Given the description of an element on the screen output the (x, y) to click on. 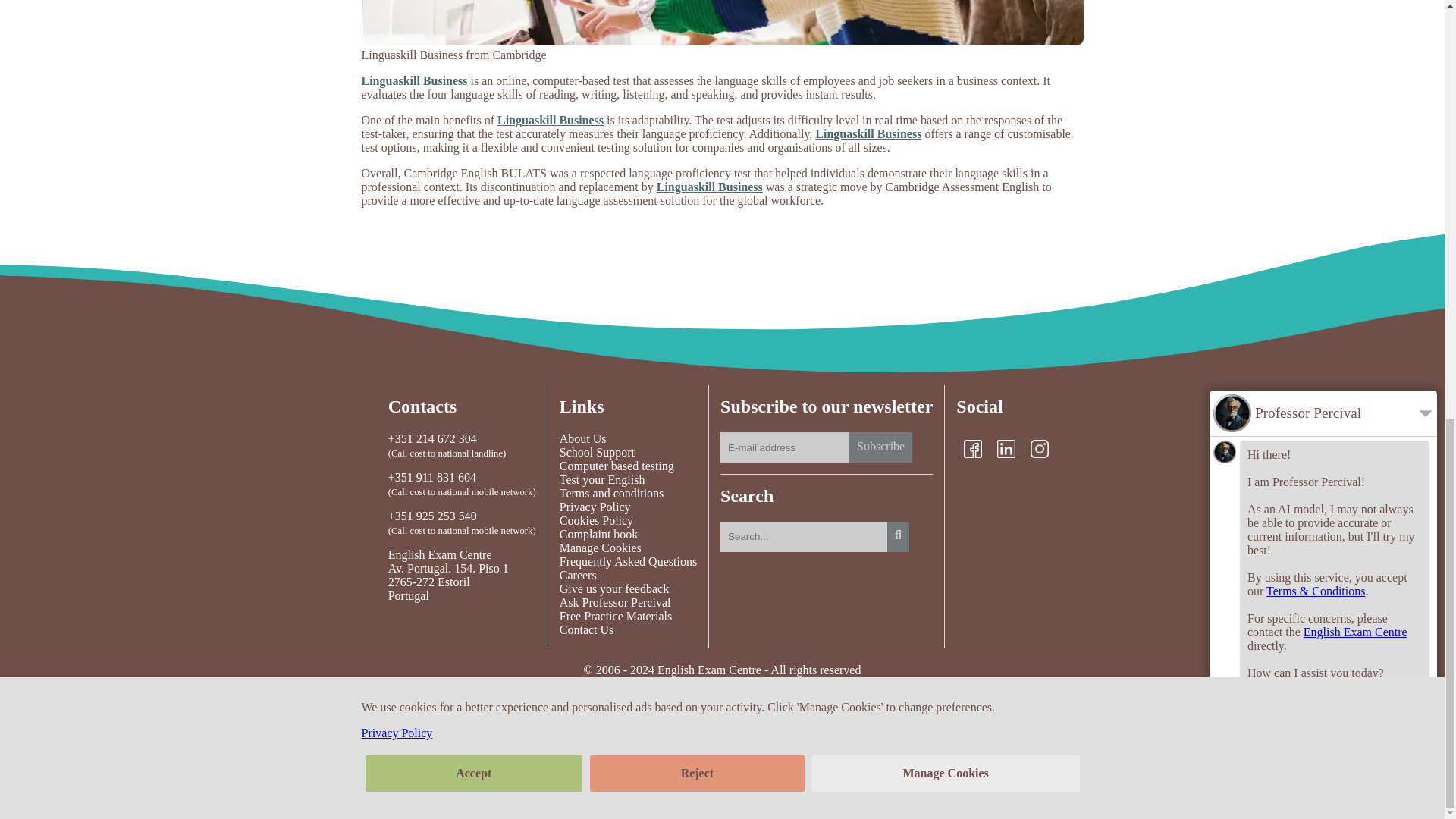
Test your English (628, 479)
Linguaskill Business (709, 186)
About Us (628, 438)
Linguaskill Business (550, 119)
Link to English Exam Centre's feed on Instagram (1039, 448)
Link to English Exam Centre's page on Facebook (972, 448)
Link to English Exam Centre's page on LinkedIn (1005, 448)
School Support (628, 452)
Linguaskill Business (414, 80)
Computer based testing (628, 466)
Linguaskill Business (868, 133)
